Given the description of an element on the screen output the (x, y) to click on. 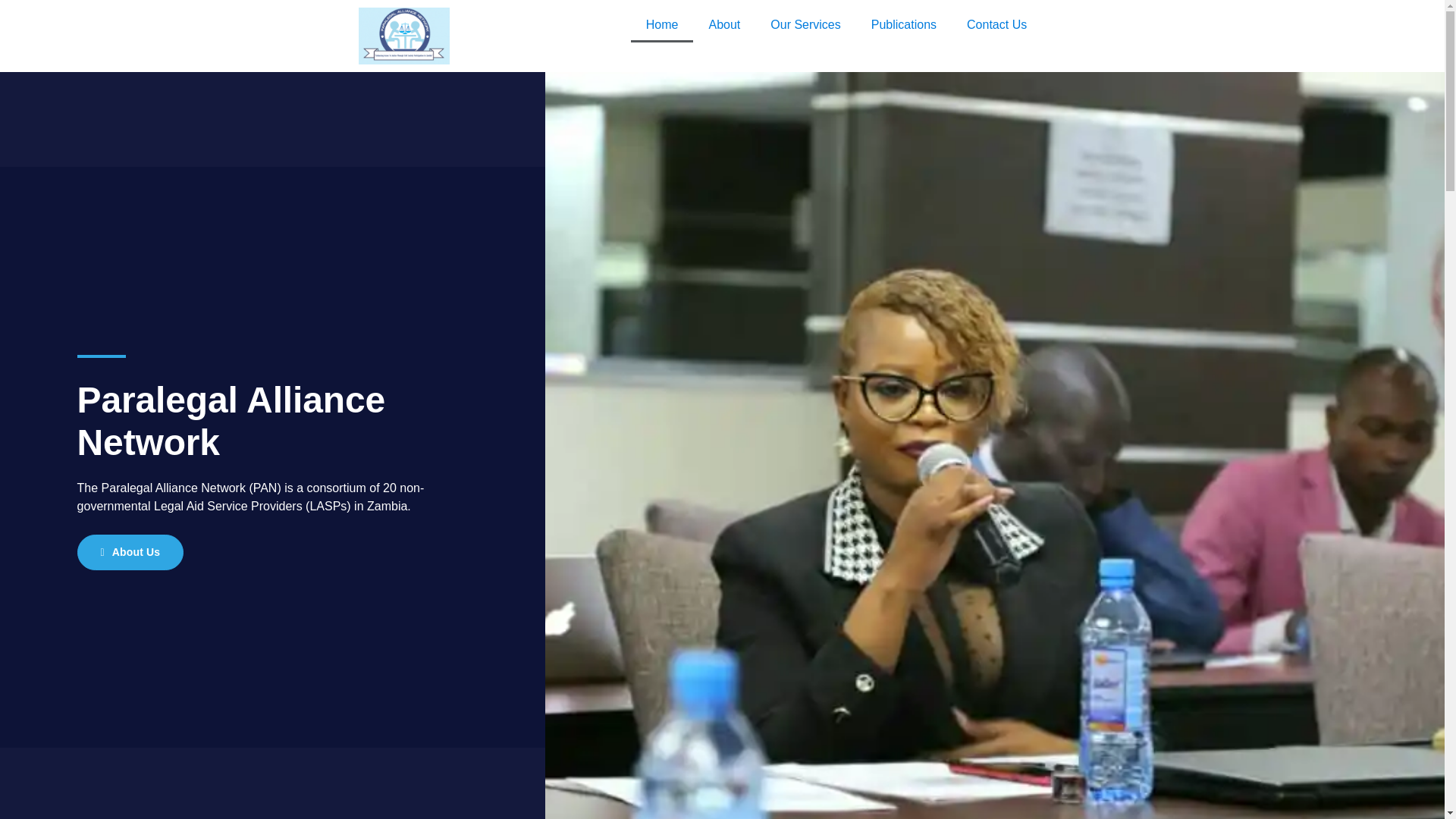
Contact Us (997, 24)
About Us (130, 552)
Our Services (805, 24)
Home (662, 24)
About (724, 24)
Publications (904, 24)
